Given the description of an element on the screen output the (x, y) to click on. 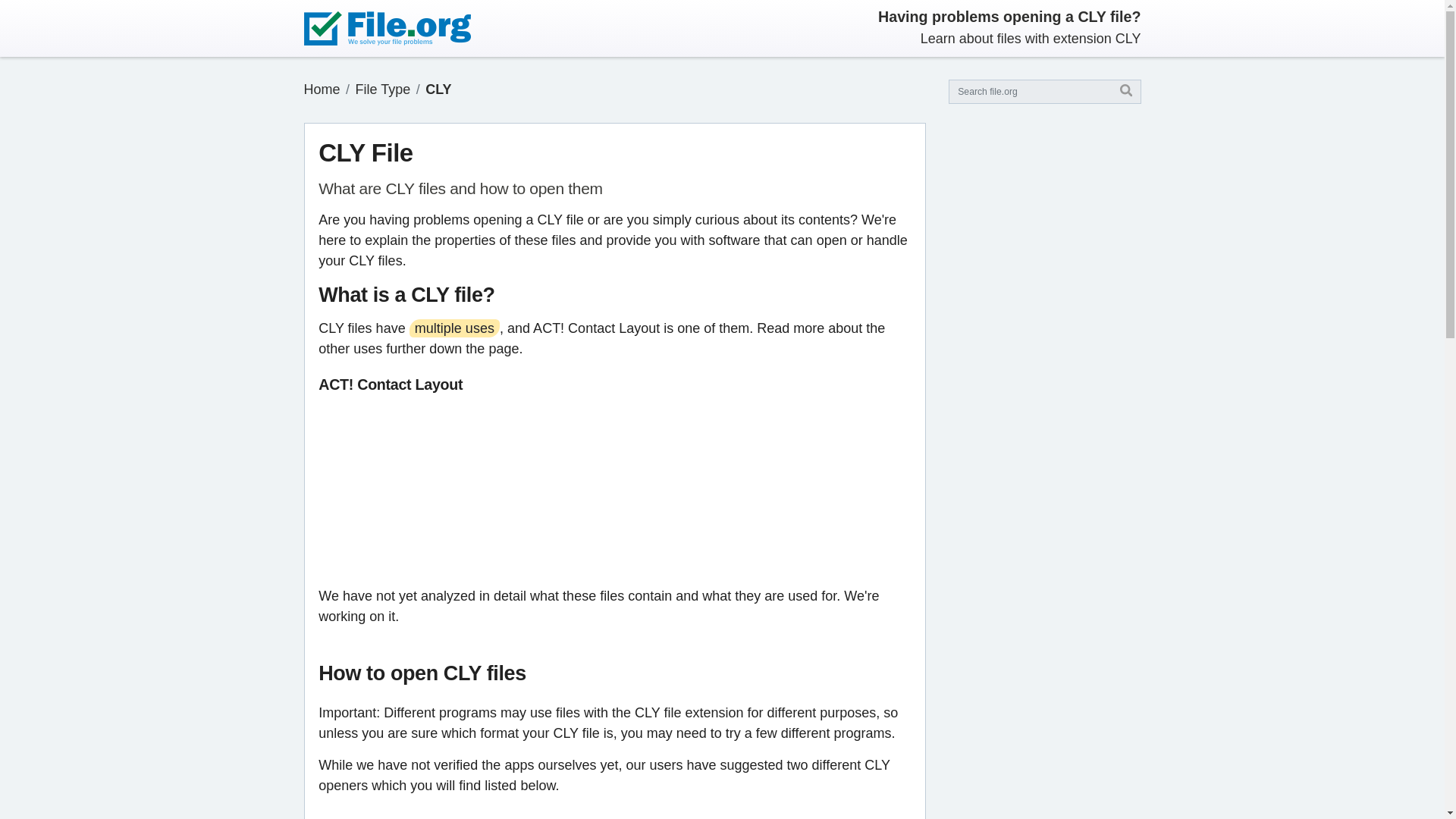
File.org (320, 89)
File Type (382, 89)
CLY (438, 89)
Home (320, 89)
CLY (438, 89)
File Type (382, 89)
